Given the description of an element on the screen output the (x, y) to click on. 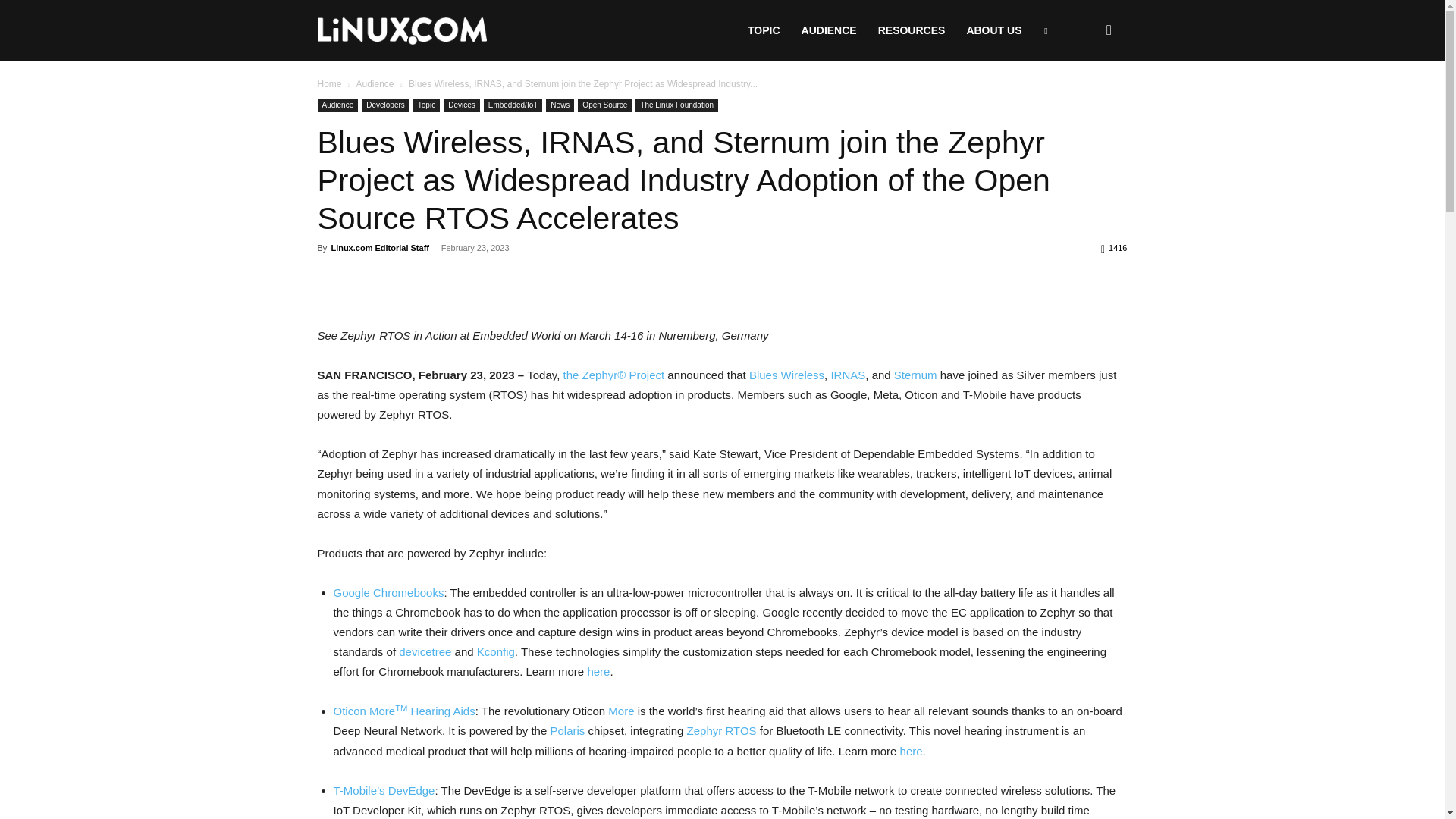
Linux.com (401, 30)
View all posts in Audience (374, 83)
Linux.com (401, 30)
Search (1085, 102)
